Given the description of an element on the screen output the (x, y) to click on. 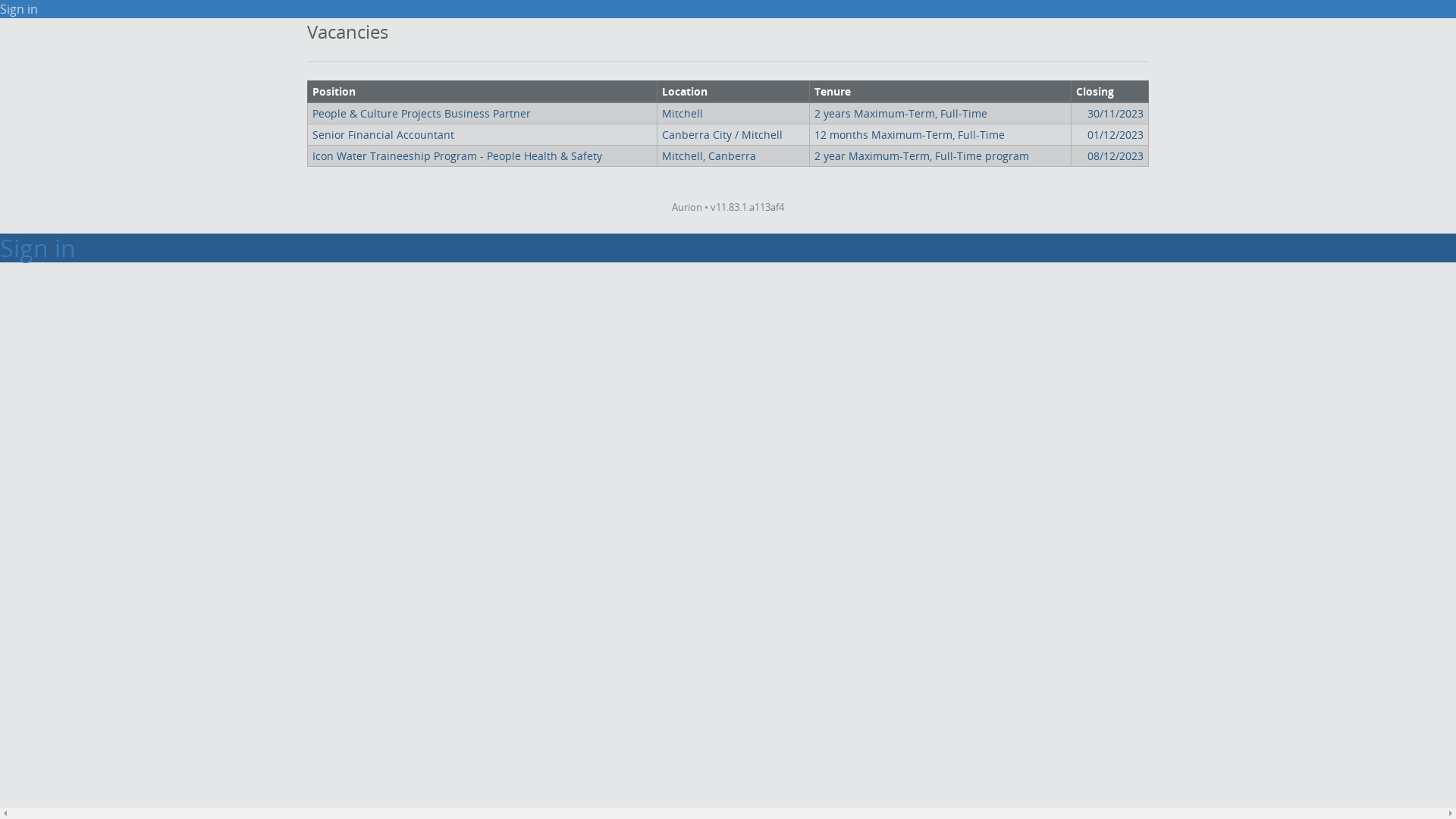
Sign in Element type: text (18, 8)
